Given the description of an element on the screen output the (x, y) to click on. 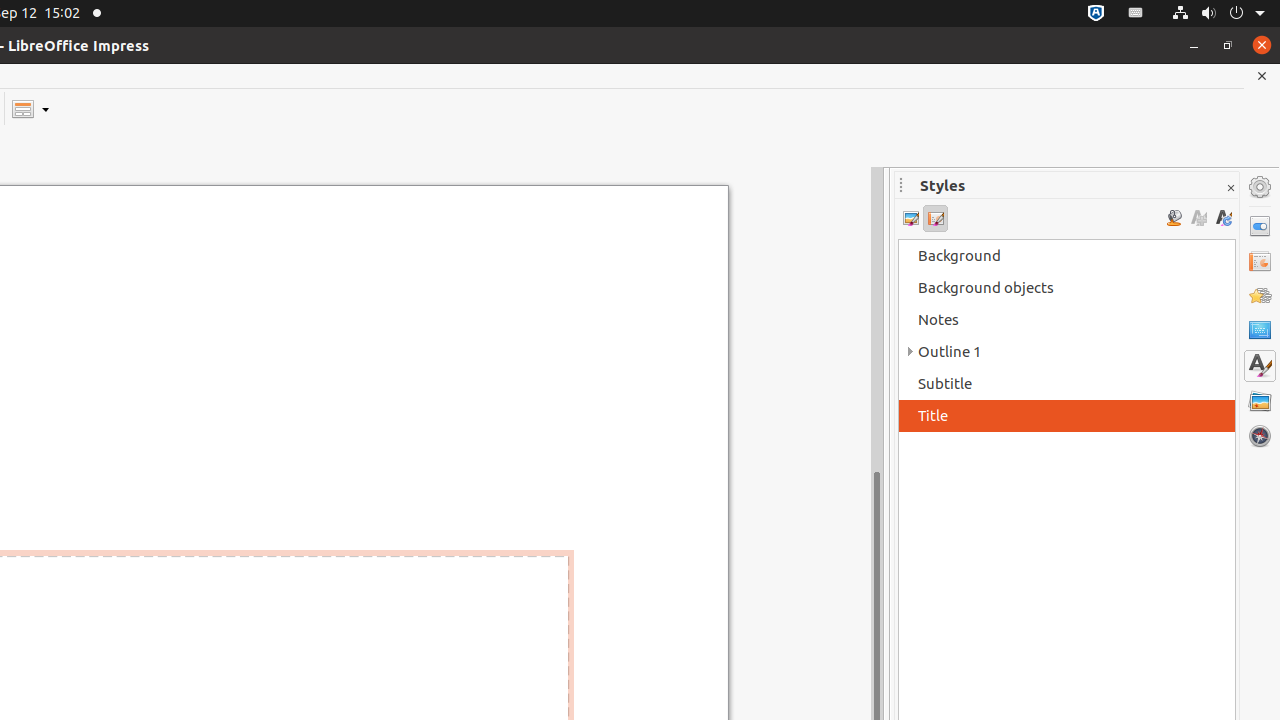
Properties Element type: radio-button (1260, 226)
Master Slides Element type: radio-button (1260, 331)
Close Sidebar Deck Element type: push-button (1230, 188)
:1.21/StatusNotifierItem Element type: menu (1136, 13)
Presentation Styles Element type: push-button (935, 218)
